Given the description of an element on the screen output the (x, y) to click on. 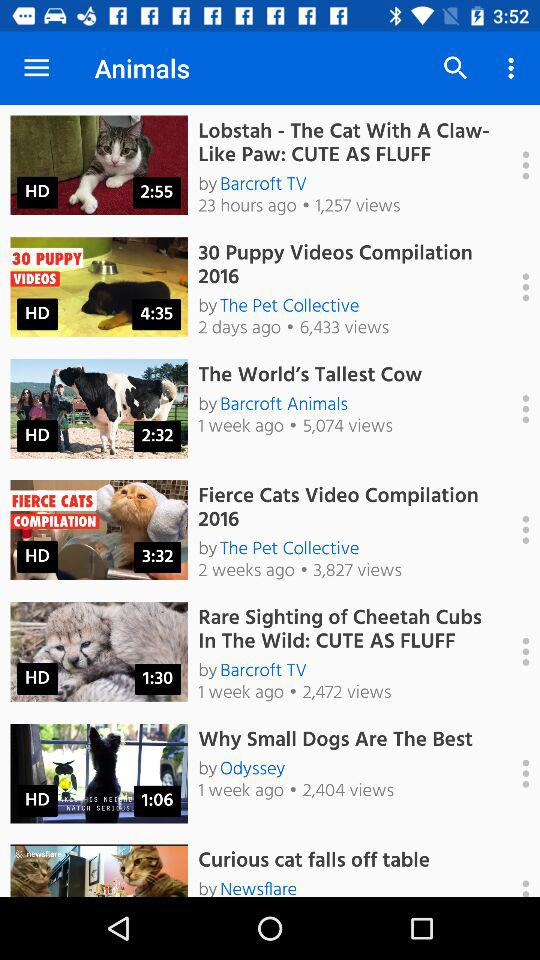
open video options (515, 773)
